Given the description of an element on the screen output the (x, y) to click on. 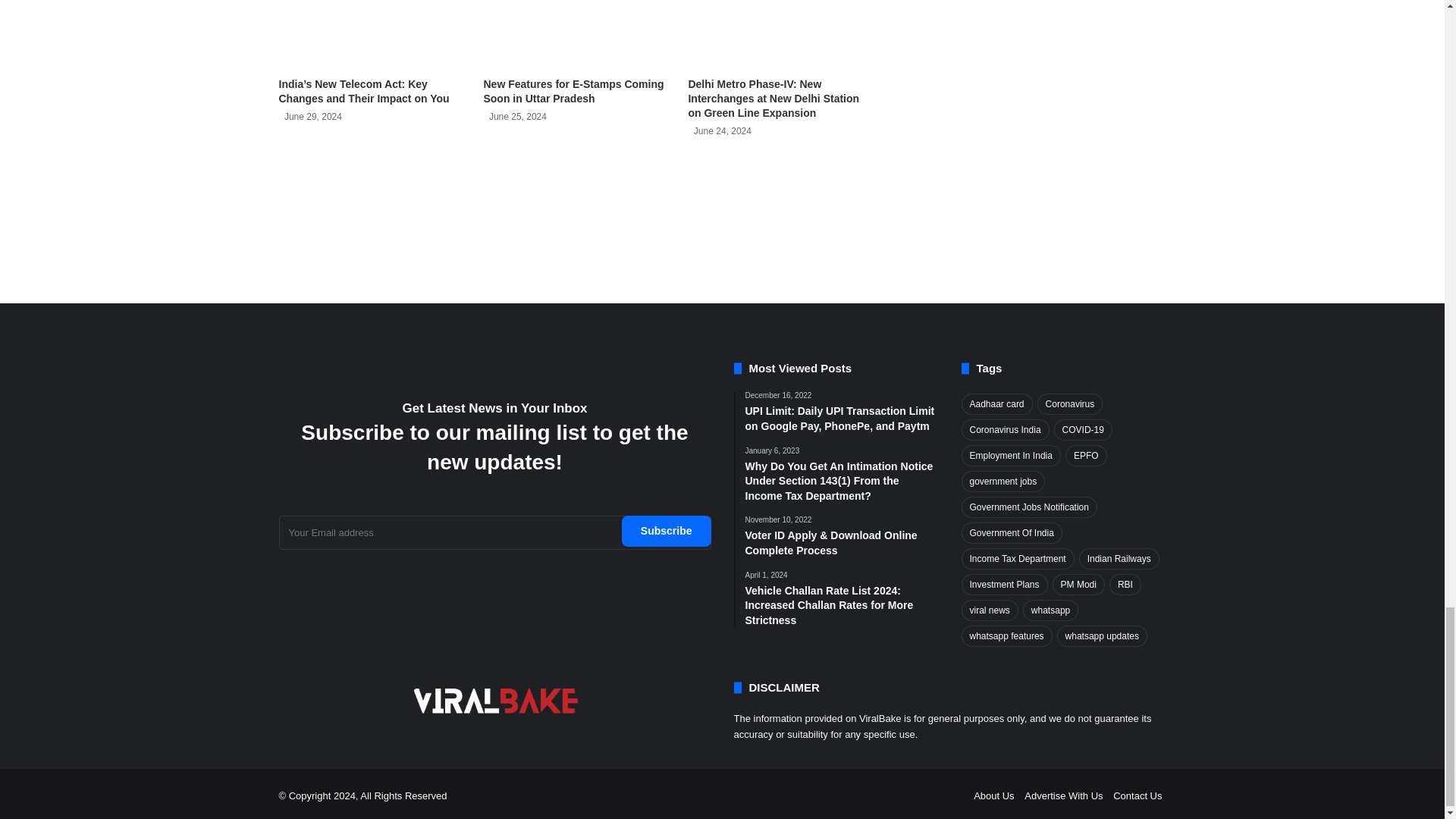
Subscribe (666, 531)
